Given the description of an element on the screen output the (x, y) to click on. 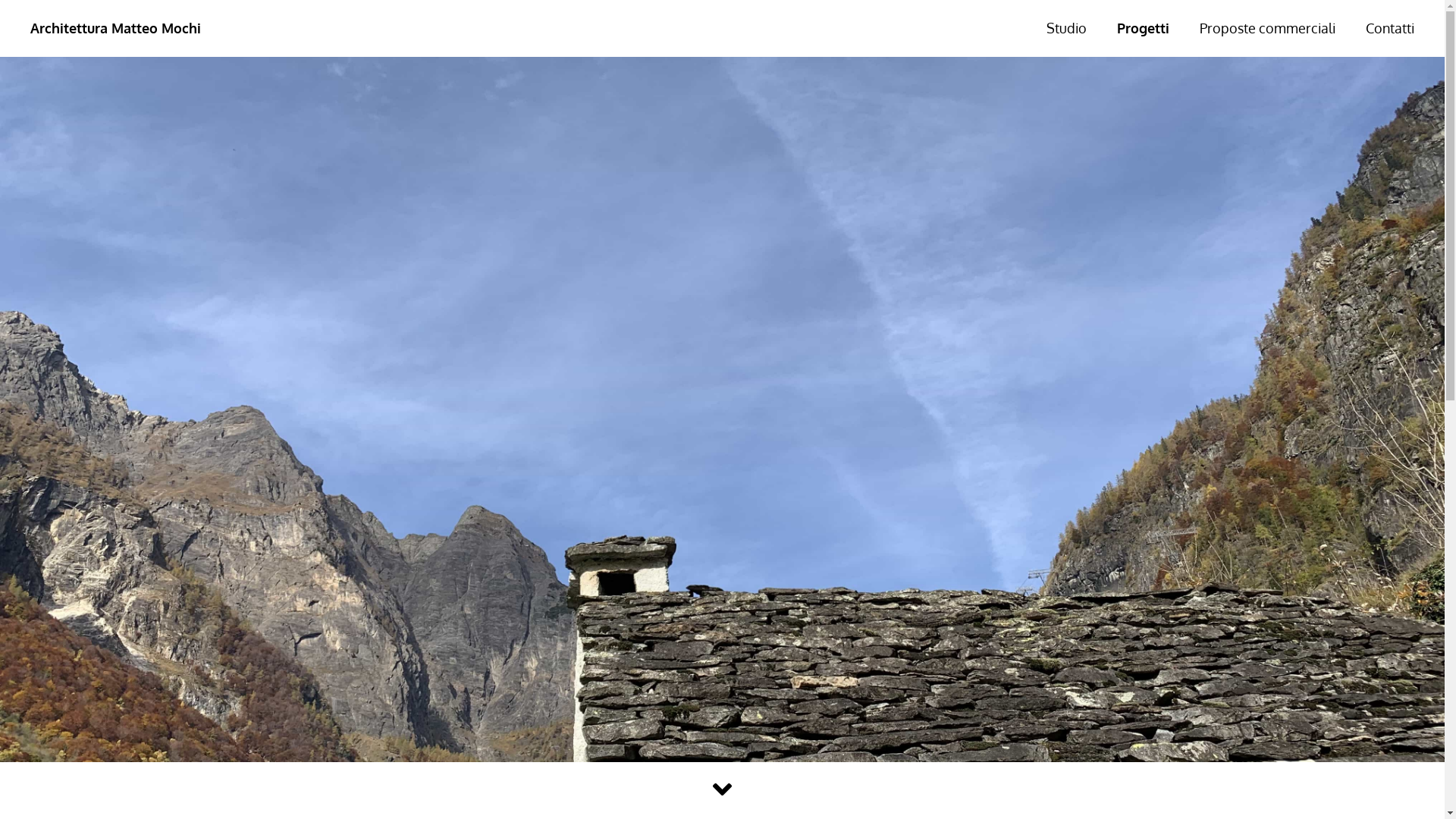
Proposte commerciali Element type: text (1267, 27)
Studio Element type: text (1066, 27)
Architettura Matteo Mochi Element type: text (309, 27)
Contatti Element type: text (1389, 27)
Progetti Element type: text (1143, 27)
